Given the description of an element on the screen output the (x, y) to click on. 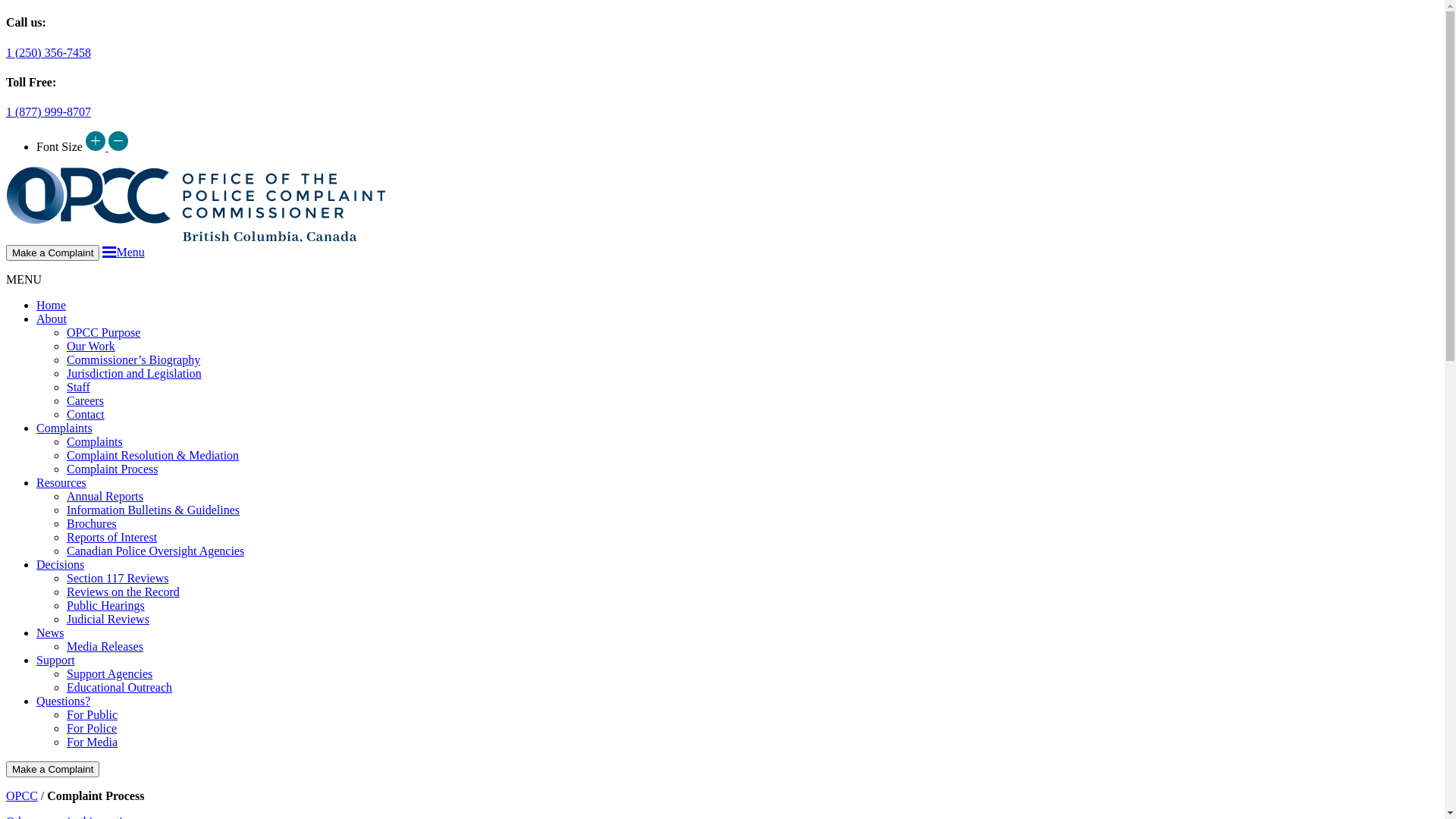
Menu Element type: text (123, 251)
1 (877) 999-8707 Element type: text (48, 111)
Contact Element type: text (85, 413)
Information Bulletins & Guidelines Element type: text (152, 509)
Support Agencies Element type: text (109, 673)
Complaint Resolution & Mediation Element type: text (152, 454)
Public Hearings Element type: text (105, 605)
Judicial Reviews Element type: text (107, 618)
News Element type: text (49, 632)
Jurisdiction and Legislation Element type: text (133, 373)
Reports of Interest Element type: text (111, 536)
Educational Outreach Element type: text (119, 686)
OPCC Element type: text (21, 795)
Reviews on the Record Element type: text (122, 591)
Brochures Element type: text (91, 523)
For Media Element type: text (91, 741)
Canadian Police Oversight Agencies Element type: text (155, 550)
Home Element type: text (50, 304)
Complaints Element type: text (94, 441)
Complaints Element type: text (64, 427)
Complaint Process Element type: text (111, 468)
1 (250) 356-7458 Element type: text (48, 52)
About Element type: text (51, 318)
Careers Element type: text (84, 400)
Our Work Element type: text (90, 345)
Make a Complaint Element type: text (52, 252)
For Police Element type: text (91, 727)
OPCC Purpose Element type: text (103, 332)
Make a Complaint Element type: text (52, 769)
Decisions Element type: text (60, 564)
Questions? Element type: text (63, 700)
Support Element type: text (55, 659)
Resources Element type: text (61, 482)
Media Releases Element type: text (104, 646)
Section 117 Reviews Element type: text (117, 577)
For Public Element type: text (91, 714)
Annual Reports Element type: text (104, 495)
Staff Element type: text (78, 386)
